Given the description of an element on the screen output the (x, y) to click on. 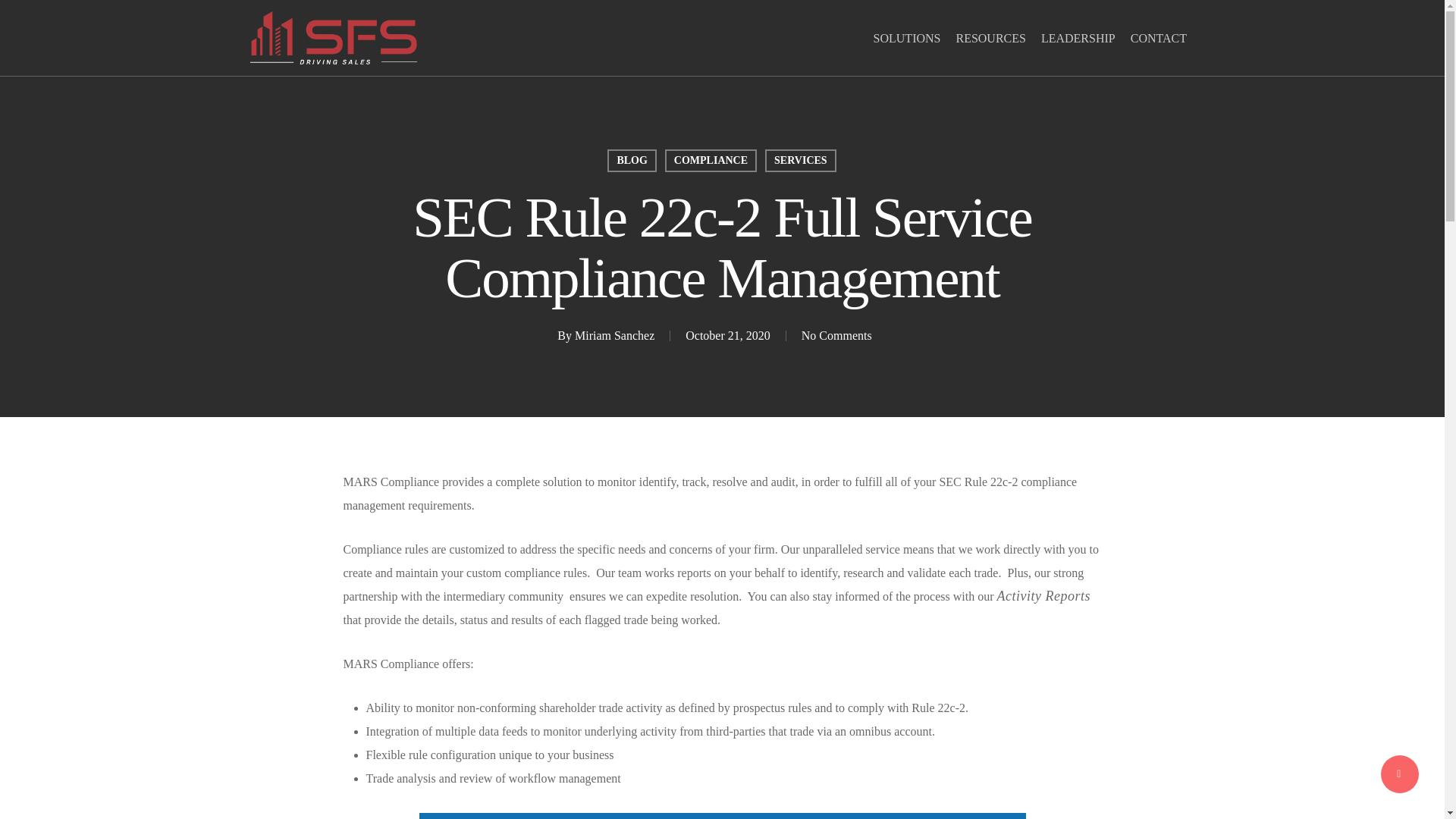
SERVICES (800, 160)
CONTACT (1157, 37)
No Comments (837, 335)
BLOG (631, 160)
RESOURCES (989, 37)
Miriam Sanchez (614, 335)
COMPLIANCE (711, 160)
SOLUTIONS (907, 37)
LEADERSHIP (1077, 37)
Posts by Miriam Sanchez (614, 335)
